Given the description of an element on the screen output the (x, y) to click on. 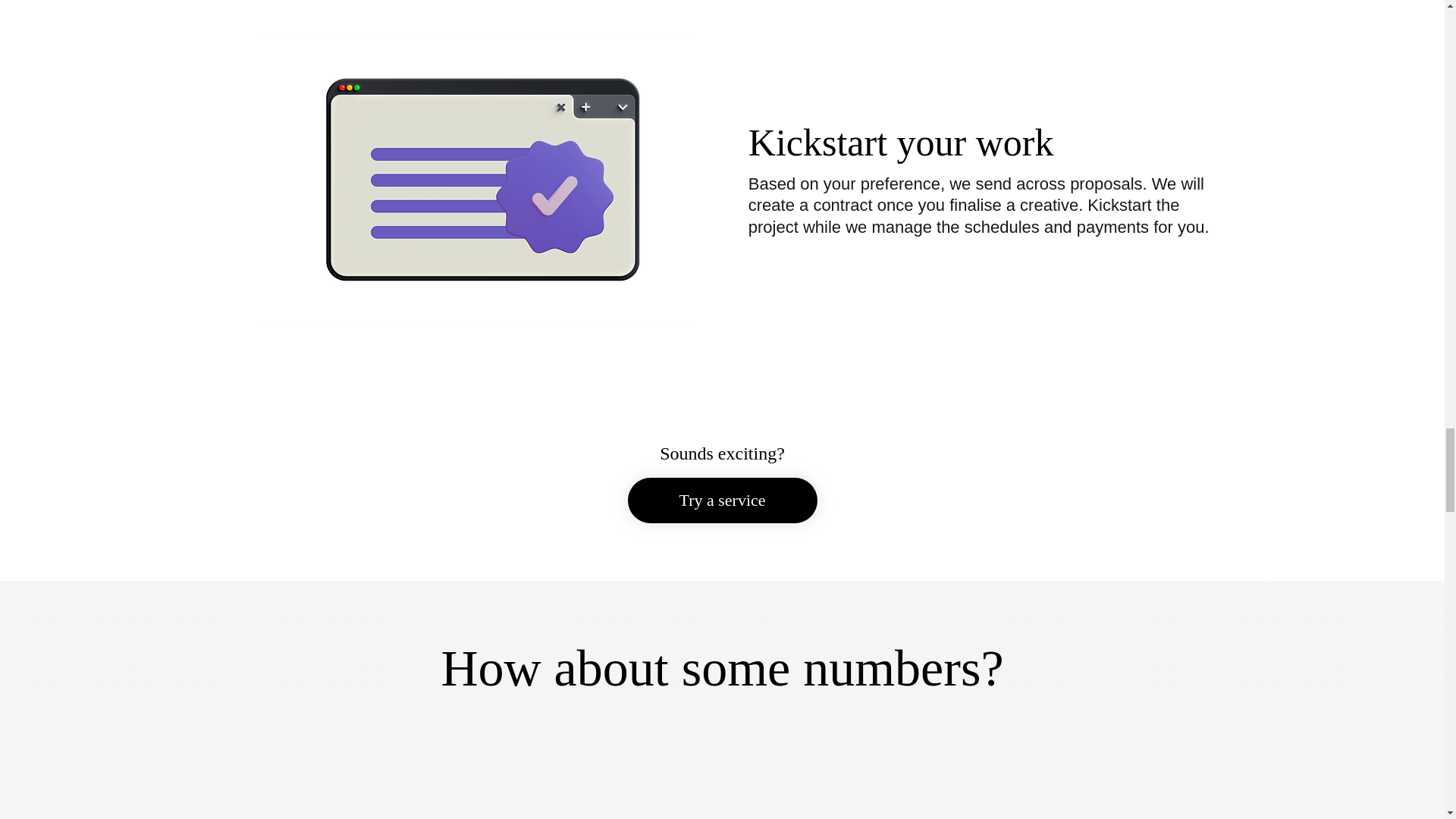
Try a service (721, 500)
